Given the description of an element on the screen output the (x, y) to click on. 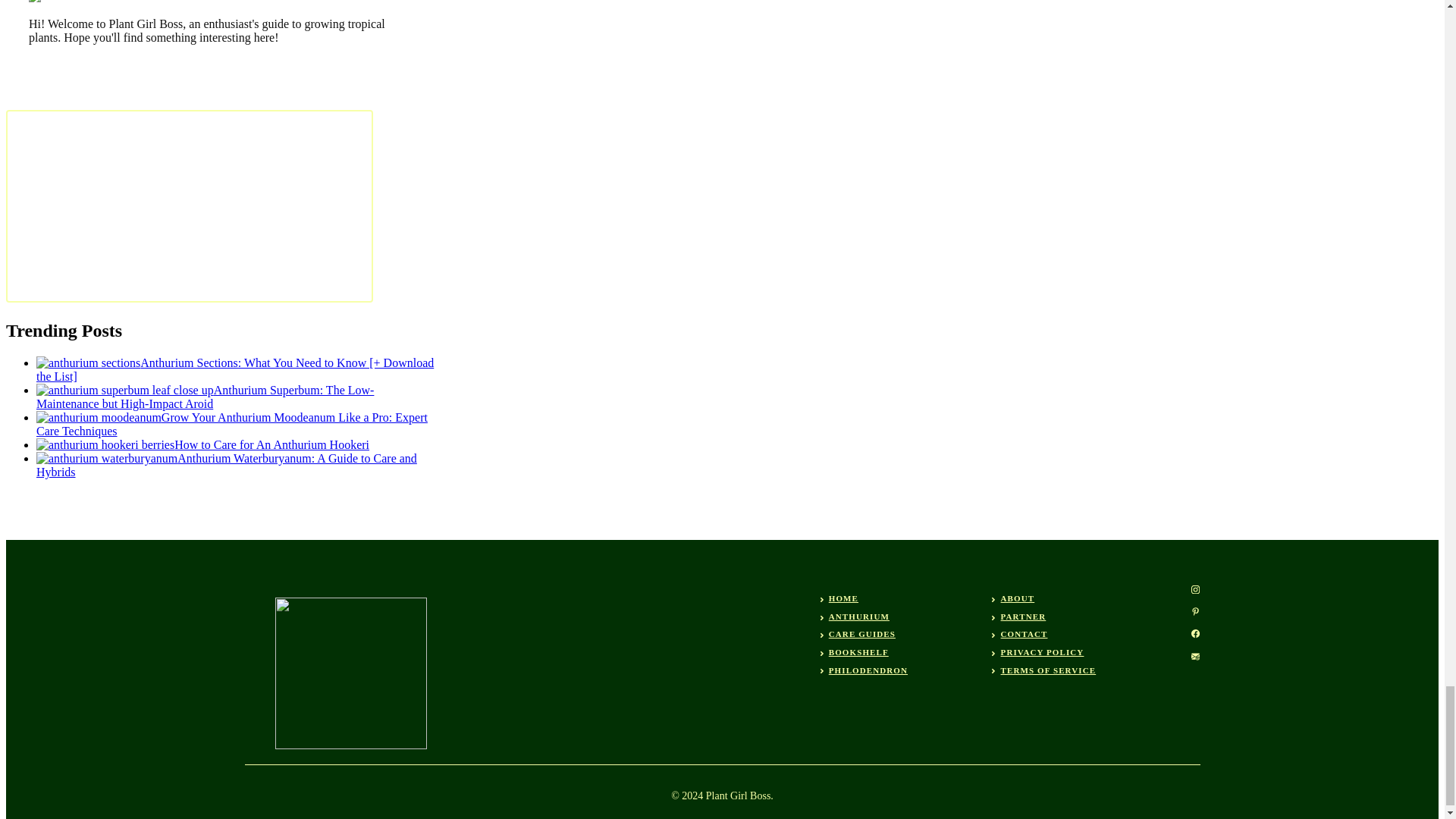
Anthurium Waterburyanum: A Guide to Care and Hybrids (226, 465)
HOME (843, 597)
ANTHURIUM (858, 615)
PRIVACY POLICY (1042, 651)
CARE GUIDES (861, 633)
PARTNER (1023, 615)
BOOKSHELF (858, 651)
How to Care for An Anthurium Hookeri (202, 444)
